Given the description of an element on the screen output the (x, y) to click on. 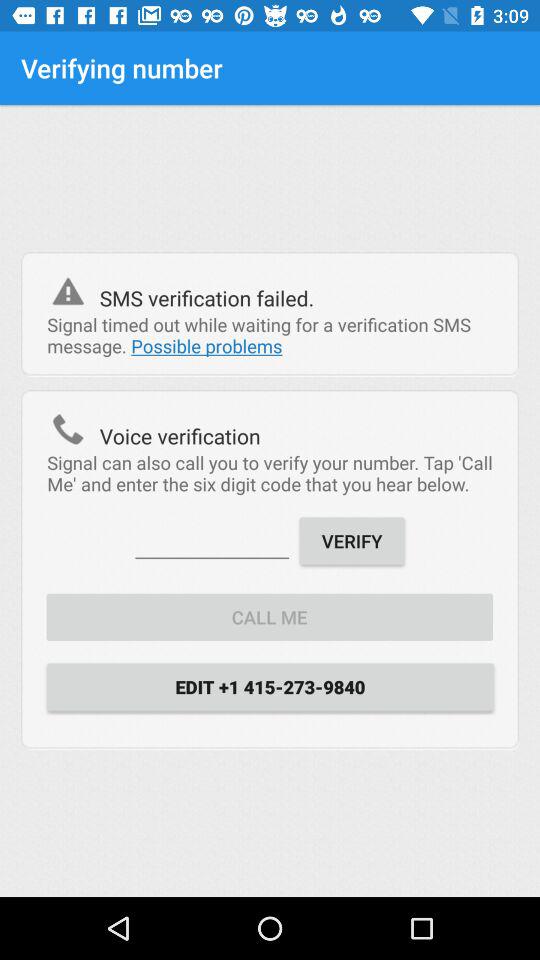
click signal timed out icon (270, 335)
